Given the description of an element on the screen output the (x, y) to click on. 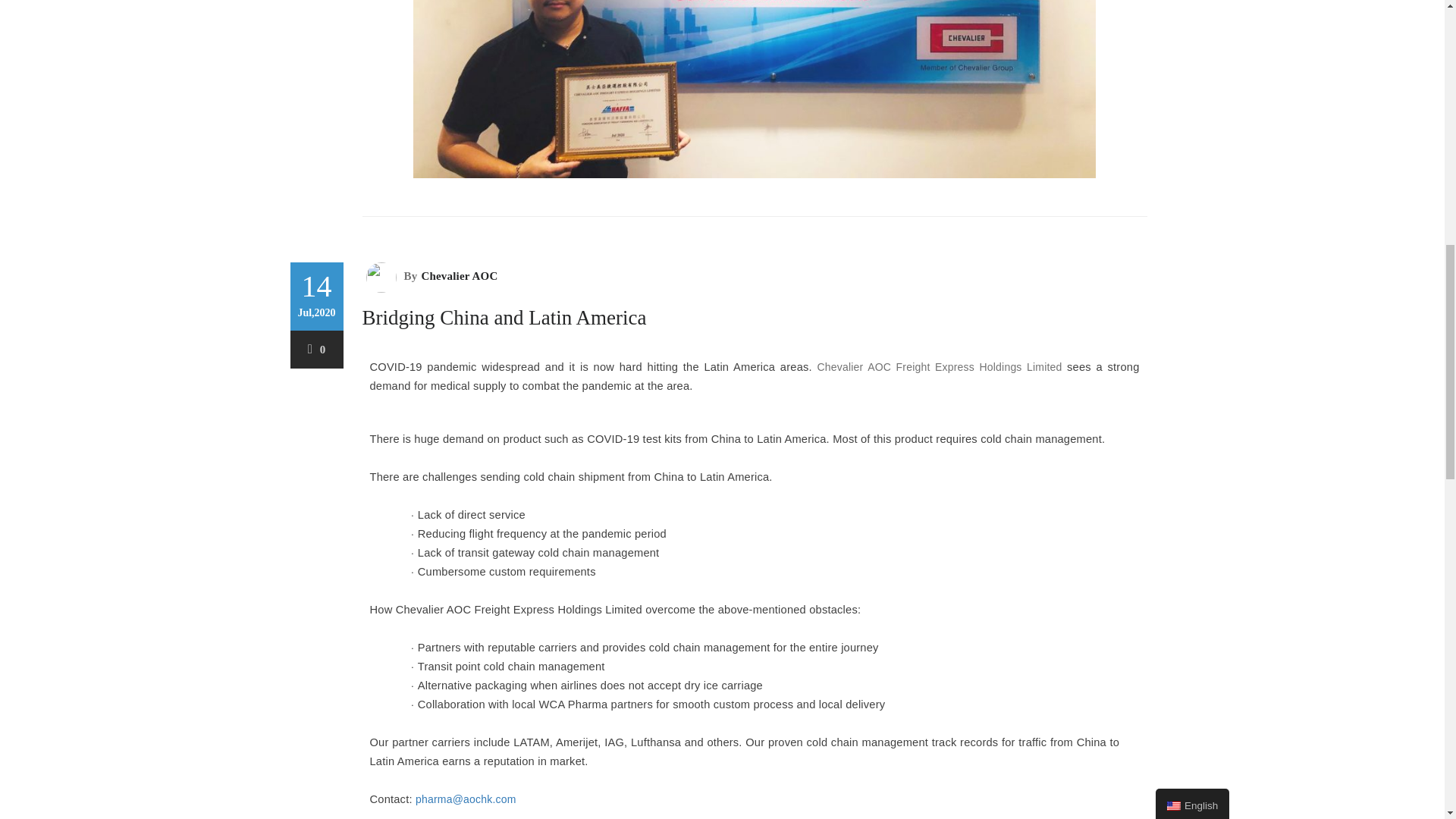
Chevalier AOC (456, 275)
Bridging China and Latin America (504, 317)
0 (316, 349)
